Given the description of an element on the screen output the (x, y) to click on. 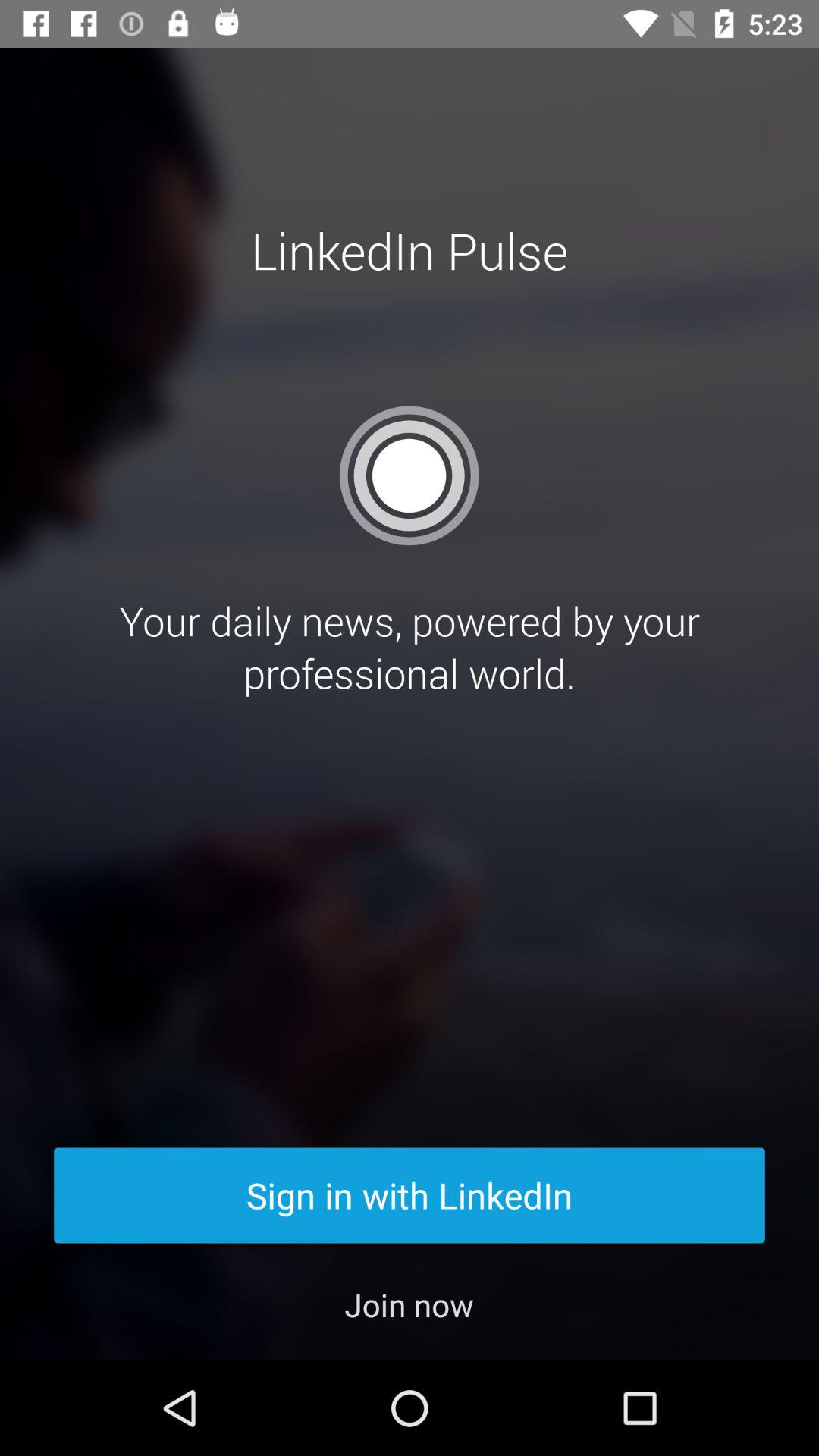
turn on the item below your daily news icon (409, 1195)
